Given the description of an element on the screen output the (x, y) to click on. 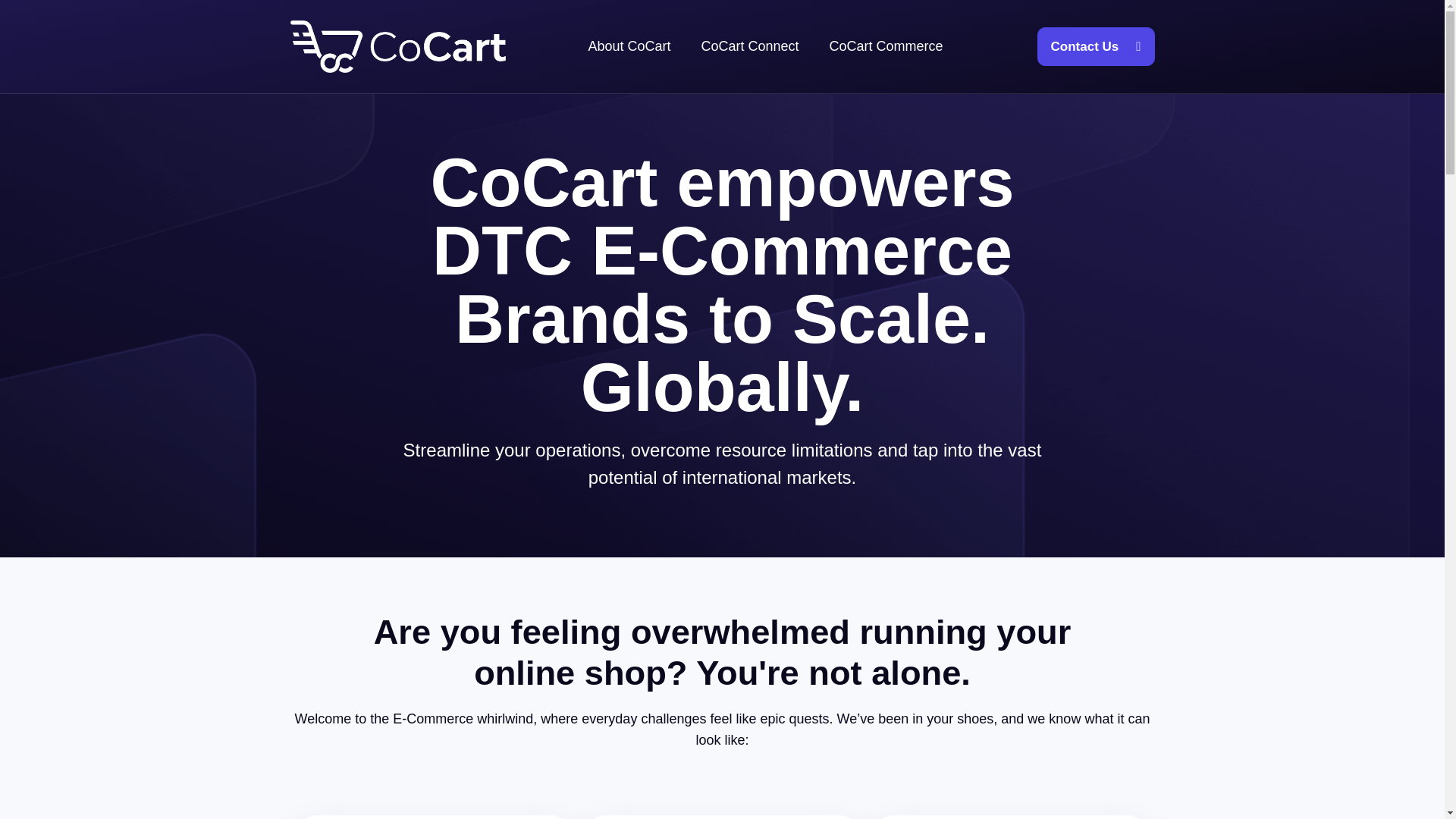
CoCart Commerce (885, 46)
CoCart Connect (749, 46)
Contact Us (1095, 46)
About CoCart (628, 46)
